Given the description of an element on the screen output the (x, y) to click on. 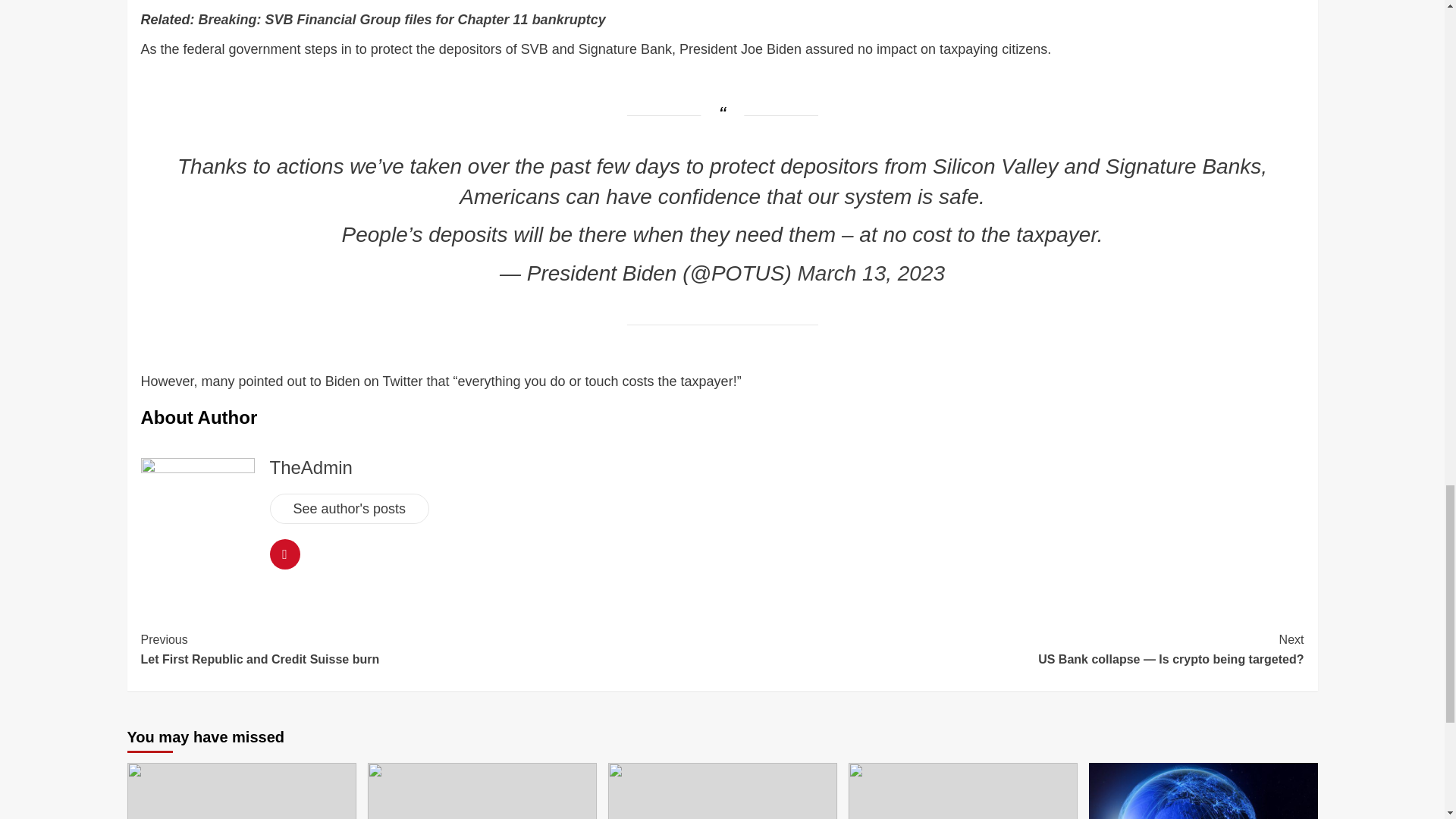
that (437, 381)
March 13, 2023 (870, 273)
